Given the description of an element on the screen output the (x, y) to click on. 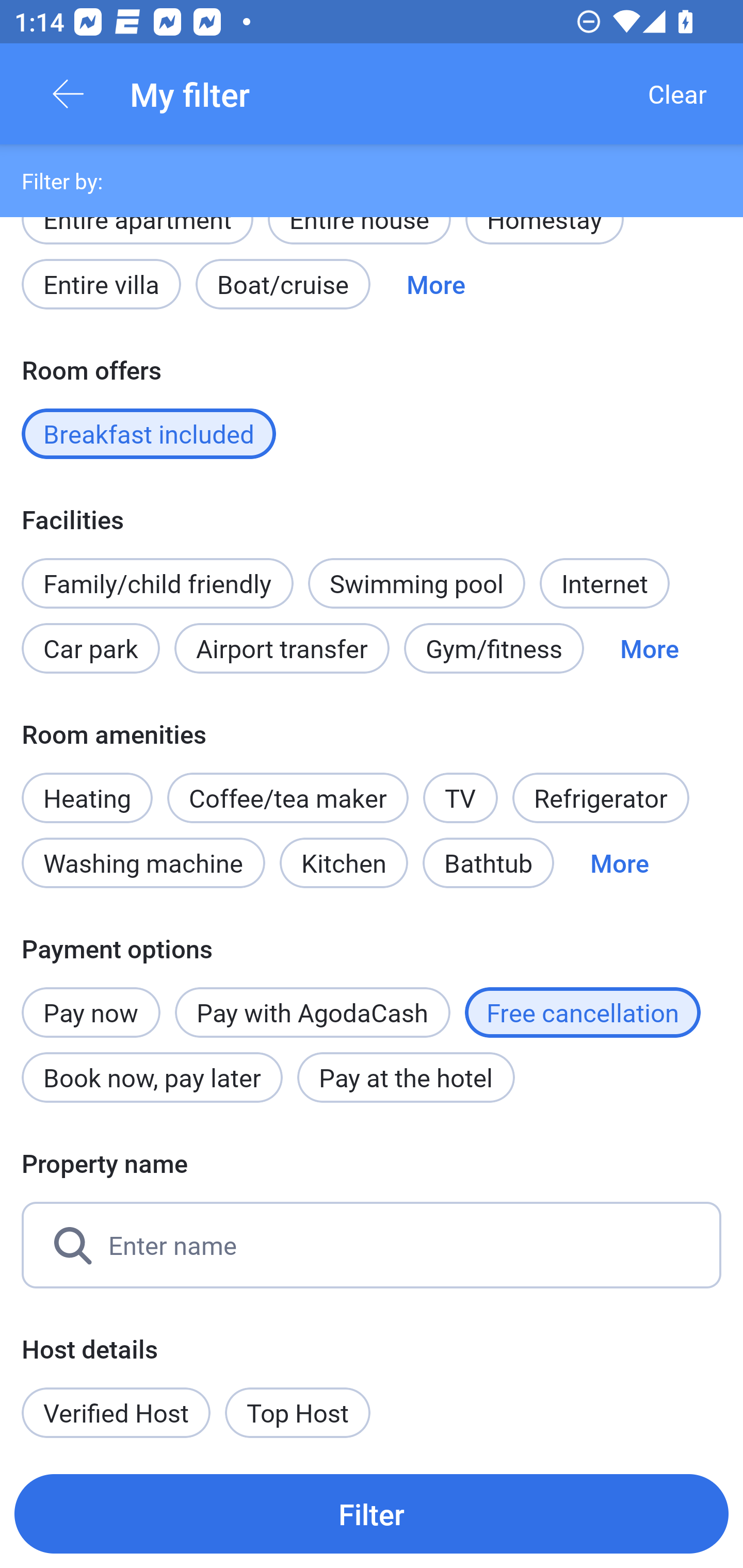
Clear (676, 93)
Entire villa (101, 284)
Boat/cruise (282, 284)
More (435, 284)
Family/child friendly (157, 583)
Swimming pool (416, 583)
Internet (604, 583)
Car park (90, 648)
Airport transfer (281, 648)
Gym/fitness (493, 648)
More (649, 648)
Heating (87, 787)
Coffee/tea maker (287, 798)
TV (460, 798)
Refrigerator (600, 798)
Washing machine (143, 863)
Kitchen (343, 863)
Bathtub (488, 863)
More (619, 863)
Pay now (90, 1001)
Pay with AgodaCash (312, 1012)
Book now, pay later (152, 1077)
Pay at the hotel (405, 1077)
Enter name (371, 1244)
Verified Host (115, 1412)
Top Host (297, 1412)
Filter (371, 1513)
